Given the description of an element on the screen output the (x, y) to click on. 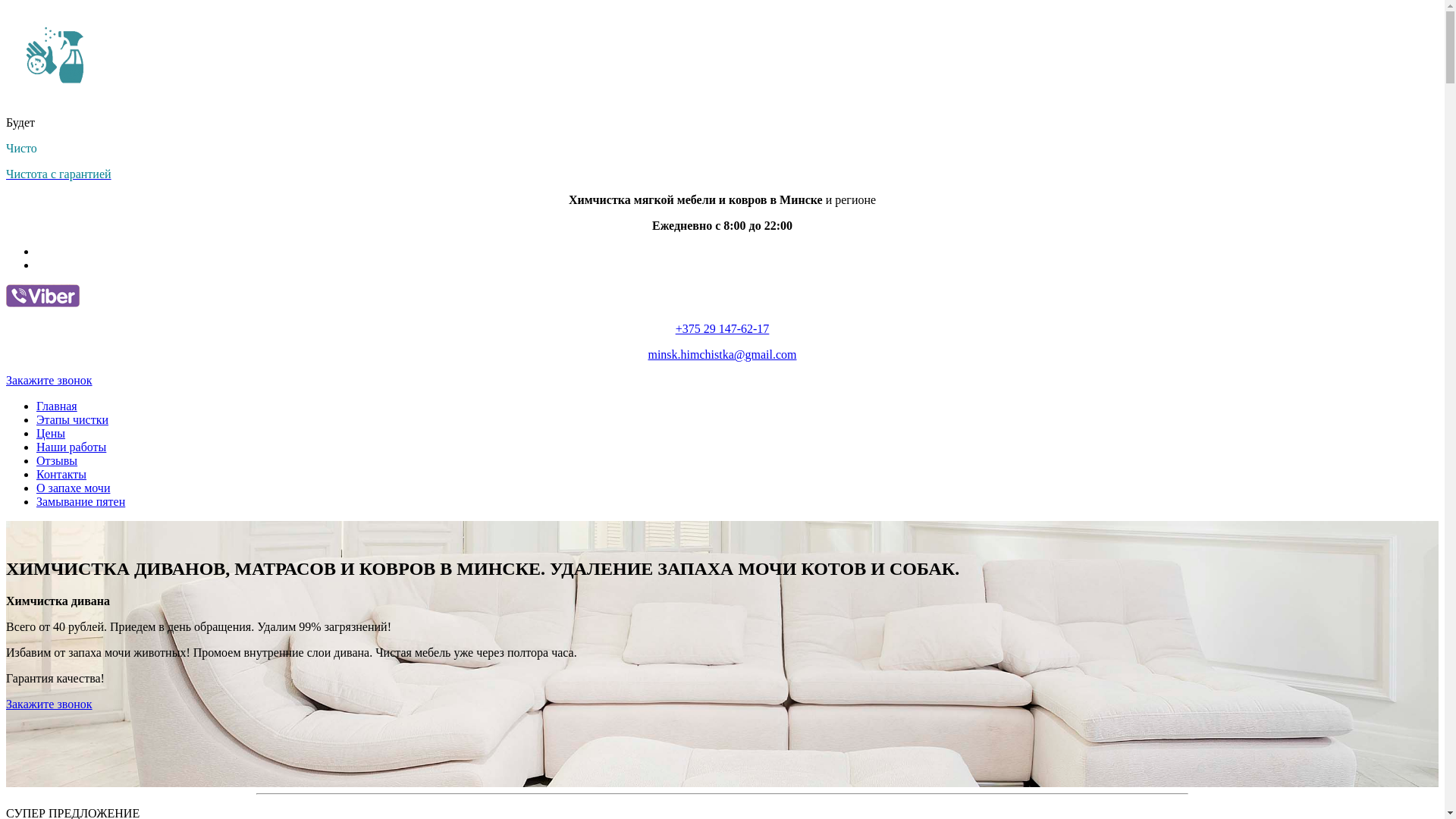
minsk.himchistka@gmail.com Element type: text (721, 354)
+375 29 147-62-17 Element type: text (722, 328)
